Given the description of an element on the screen output the (x, y) to click on. 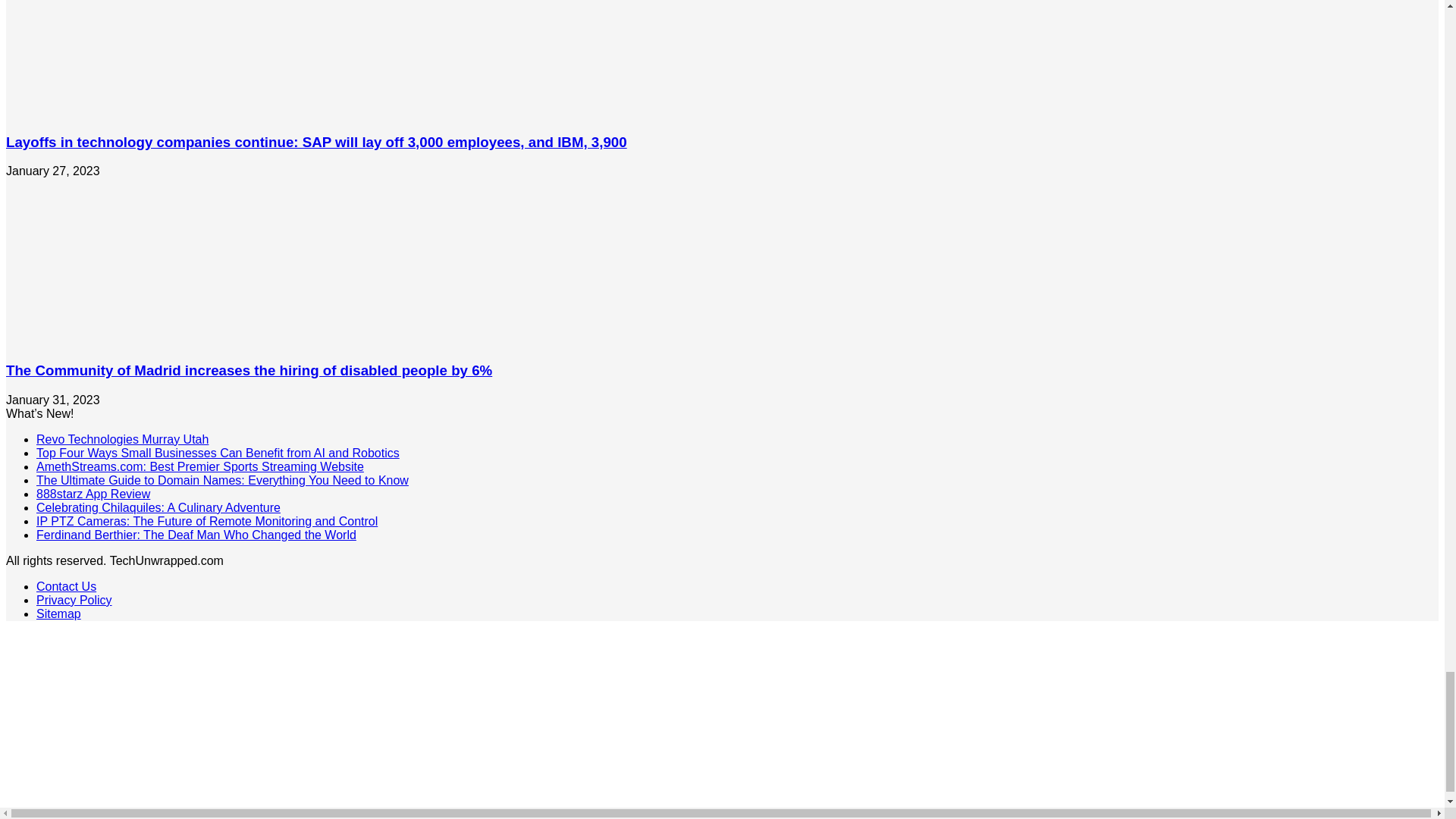
AmethStreams.com: Best Premier Sports Streaming Website (200, 466)
888starz App Review (92, 493)
Sitemap (58, 613)
Ferdinand Berthier: The Deaf Man Who Changed the World (196, 534)
IP PTZ Cameras: The Future of Remote Monitoring and Control (206, 521)
Contact Us (66, 585)
Celebrating Chilaquiles: A Culinary Adventure (158, 507)
Revo Technologies Murray Utah (122, 439)
